Given the description of an element on the screen output the (x, y) to click on. 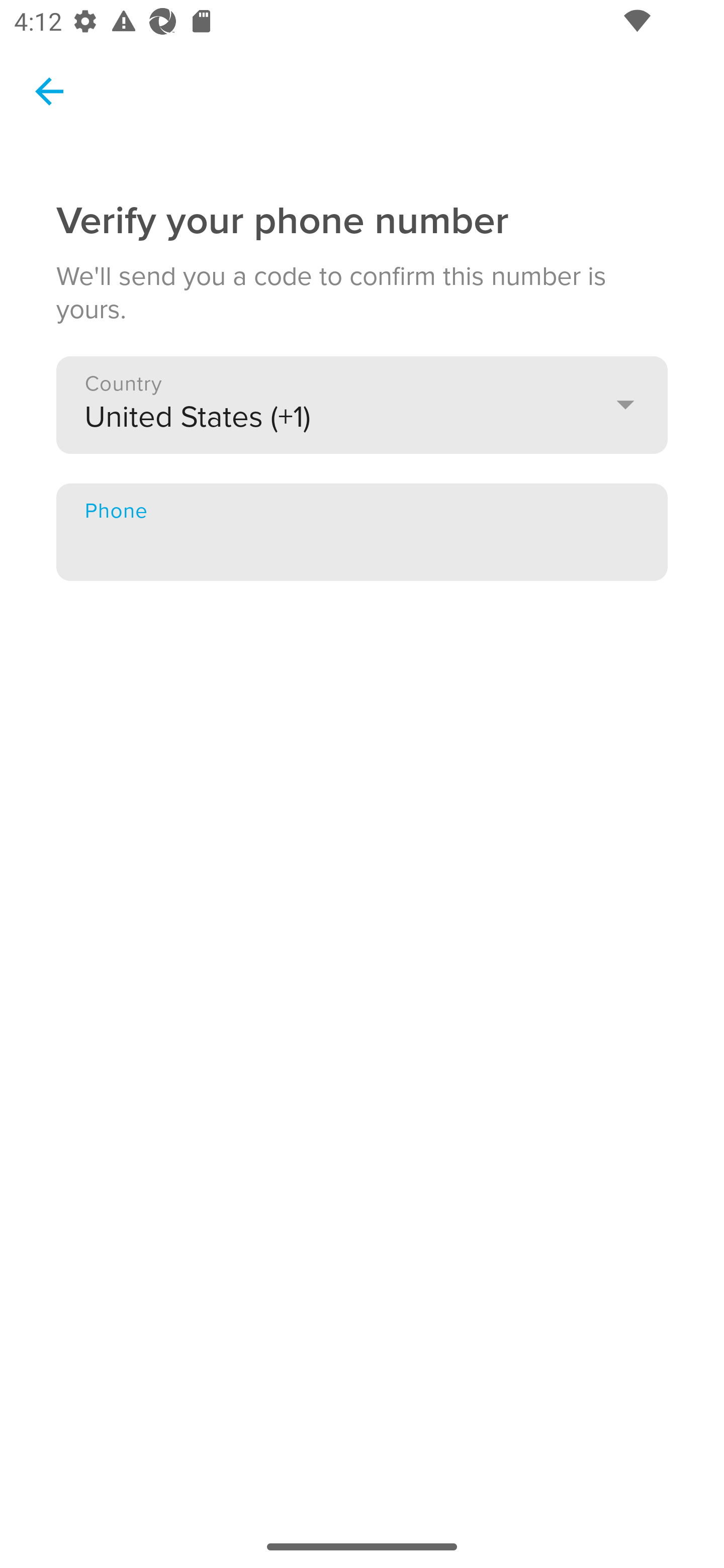
back (42, 90)
Sign In Sign in and start saving Sign In (361, 231)
United States (+1) (361, 404)
Phone (361, 531)
